Given the description of an element on the screen output the (x, y) to click on. 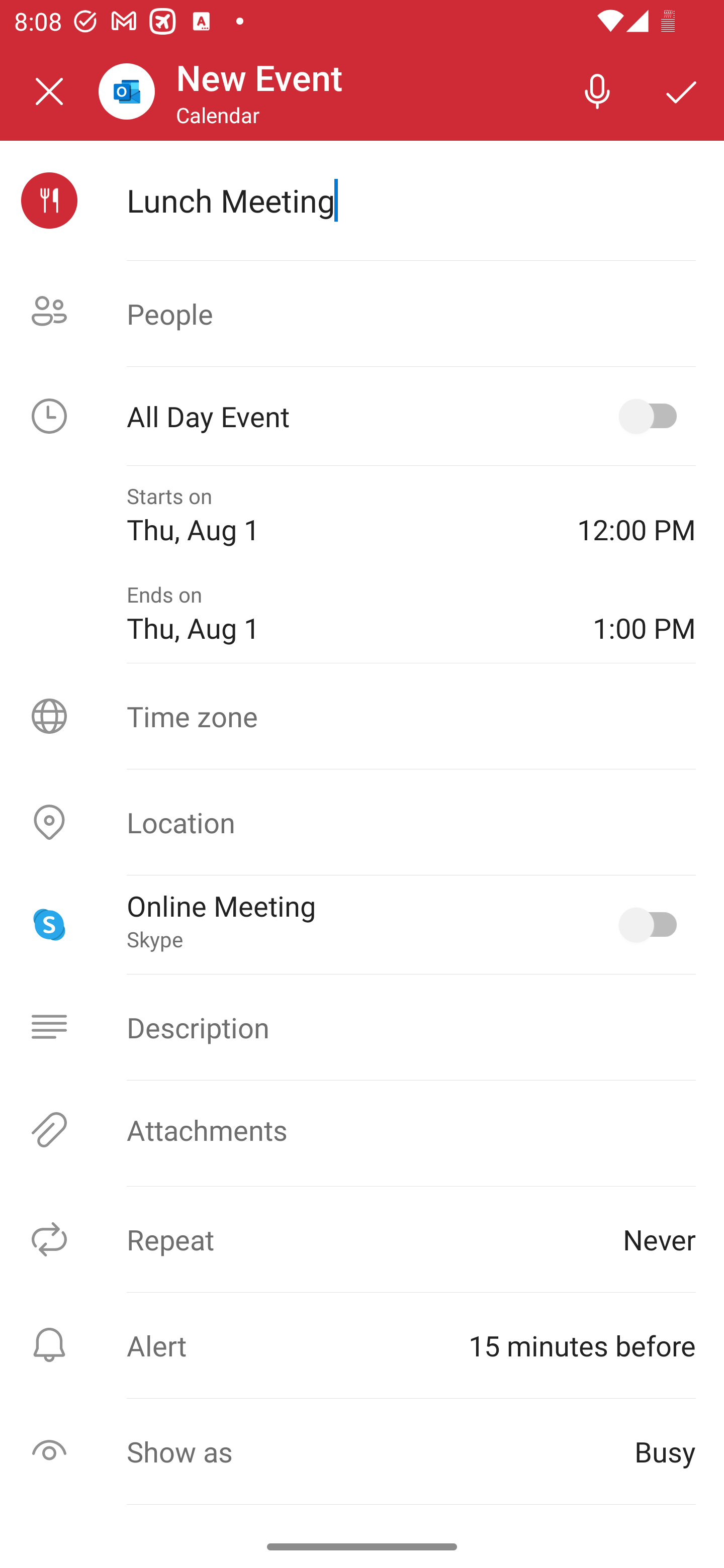
Close (49, 91)
Save (681, 90)
Lunch Meeting (410, 200)
lunch selected, event icon picker (48, 200)
People (362, 313)
All Day Event (362, 415)
Starts on Thu, Aug 1 (337, 514)
12:00 PM (636, 514)
Ends on Thu, Aug 1 (345, 613)
1:00 PM (644, 613)
Time zone (362, 715)
Location (362, 821)
Online Meeting, Skype selected (651, 923)
Description (362, 1026)
Attachments (362, 1129)
Repeat Never (362, 1239)
Alert ⁨15 minutes before (362, 1345)
Show as Busy (362, 1450)
